Given the description of an element on the screen output the (x, y) to click on. 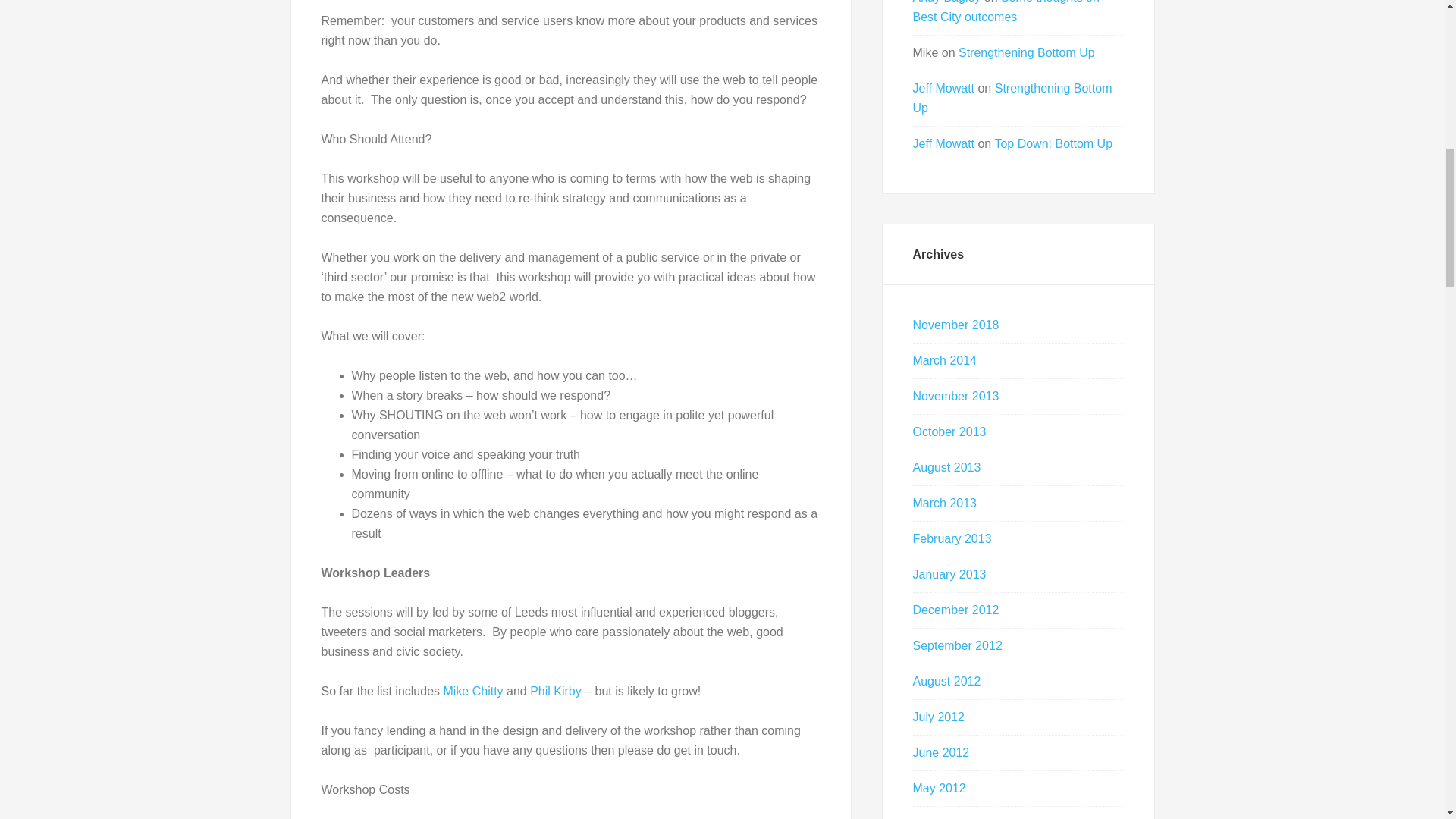
August 2013 (946, 467)
March 2013 (944, 502)
Mike Chitty (472, 690)
Phil Kirby (554, 690)
March 2014 (944, 359)
Andy Bagley (946, 2)
Strengthening Bottom Up (1012, 97)
Jeff Mowatt (943, 143)
Strengthening Bottom Up (1026, 51)
October 2013 (949, 431)
